Given the description of an element on the screen output the (x, y) to click on. 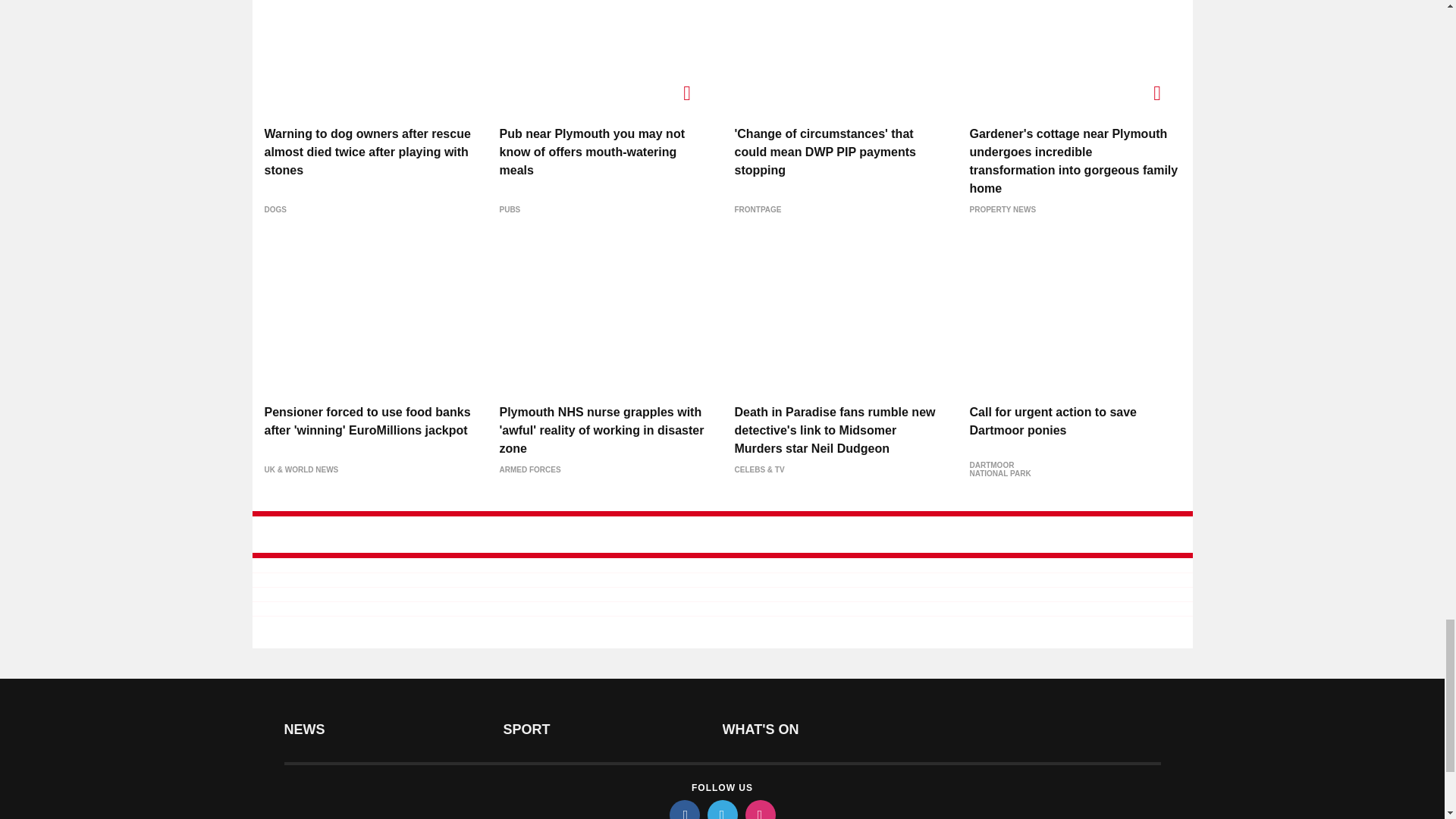
twitter (721, 809)
instagram (759, 809)
facebook (683, 809)
